Given the description of an element on the screen output the (x, y) to click on. 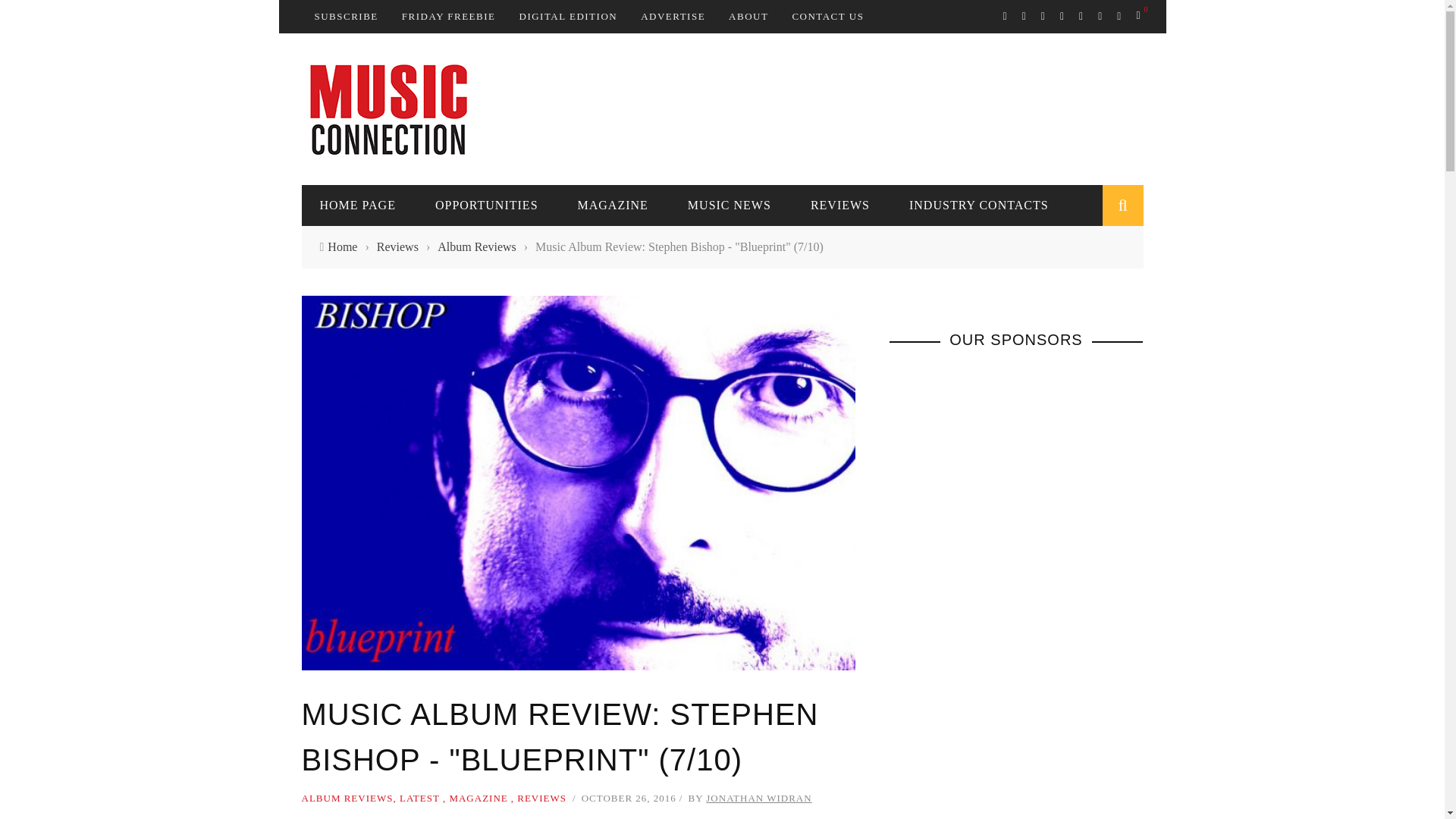
3rd party ad content (866, 108)
